Given the description of an element on the screen output the (x, y) to click on. 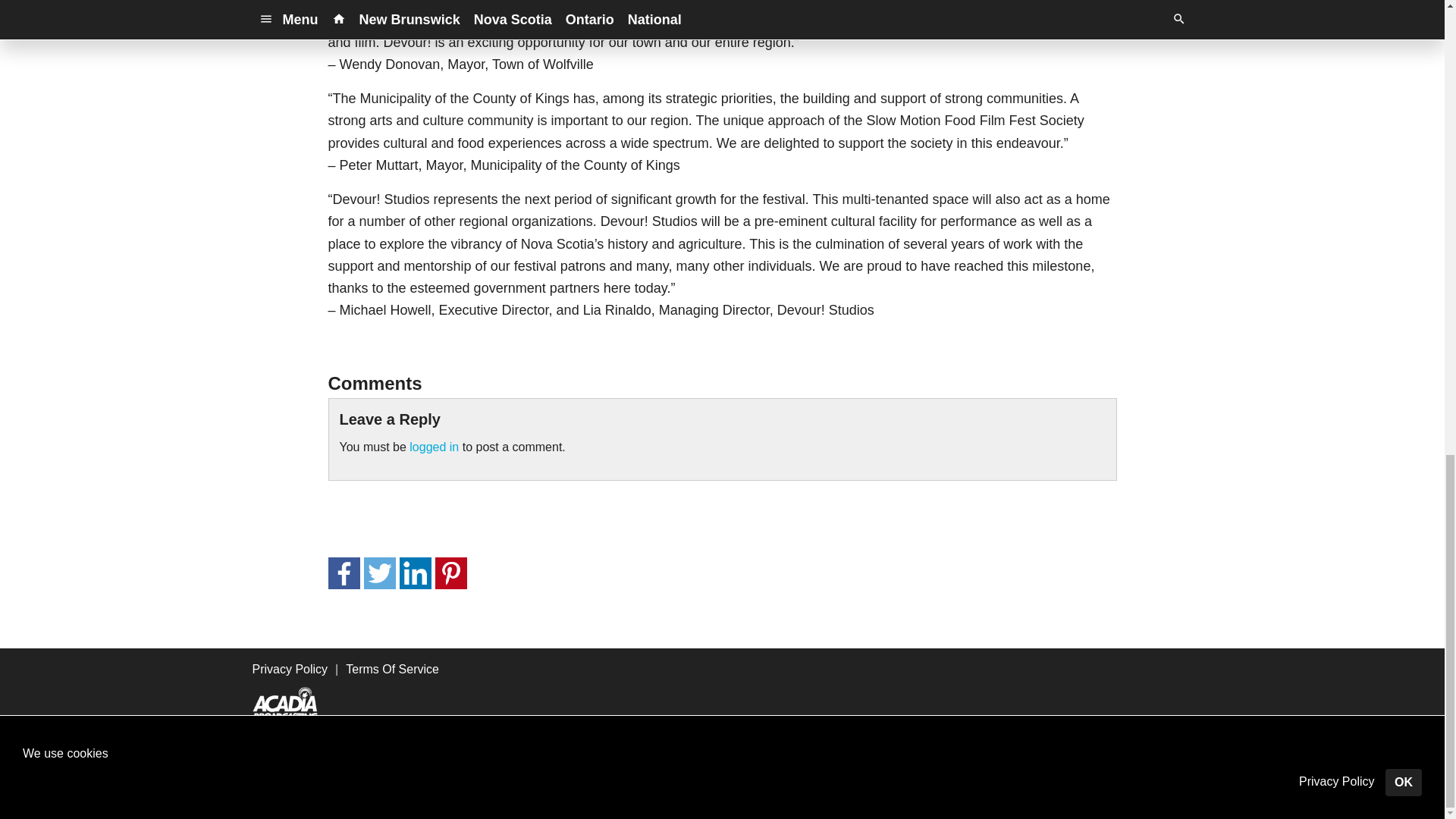
Terms of Service (688, 772)
Privacy Policy (289, 669)
Powered By SoCast (333, 796)
logged in (433, 446)
Terms Of Service (392, 669)
Privacy Policy (577, 772)
Powered By SoCast (333, 797)
